Given the description of an element on the screen output the (x, y) to click on. 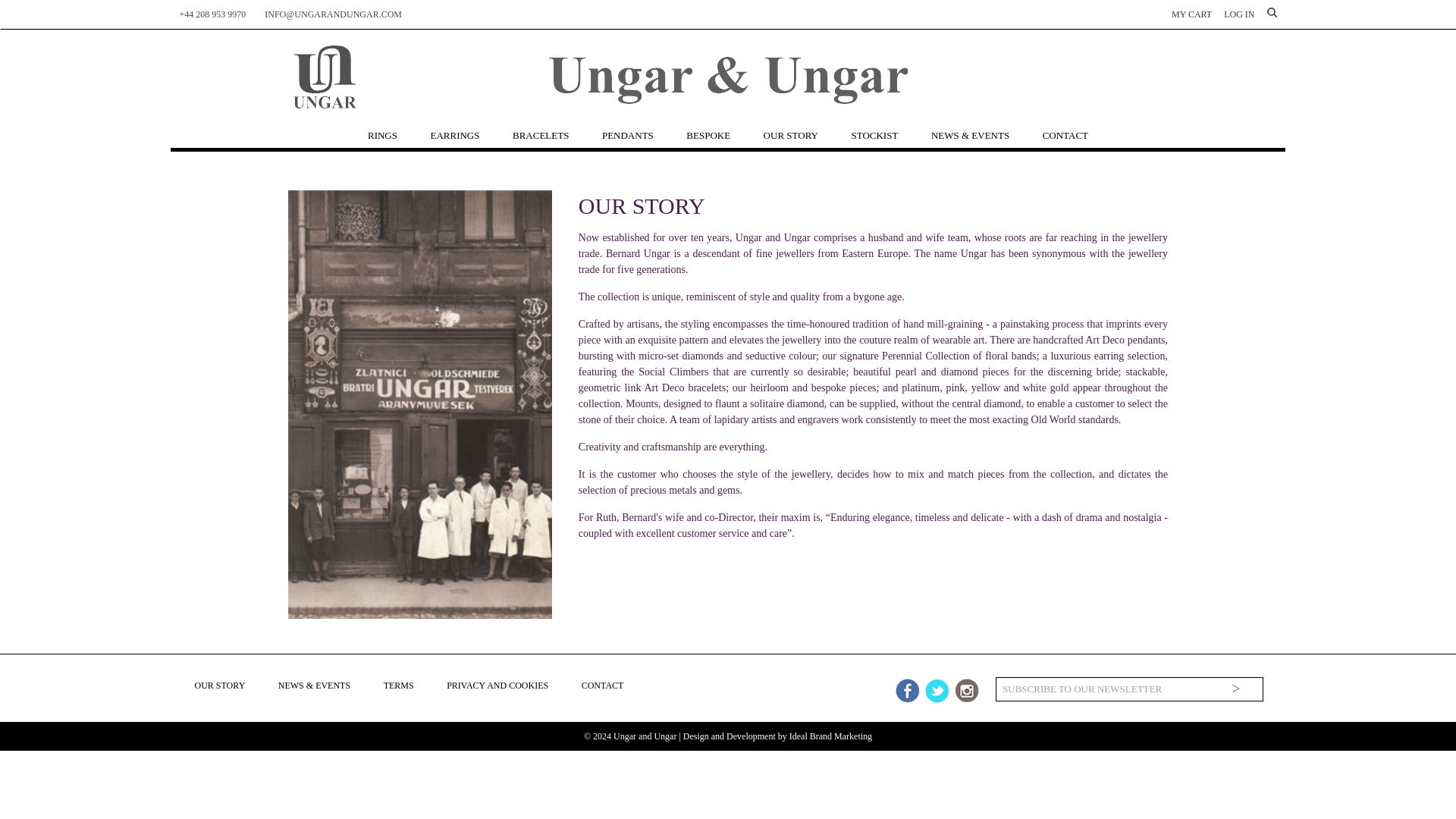
PENDANTS (627, 135)
My Cart (1191, 14)
BRACELETS (540, 135)
CONTACT (1064, 135)
EARRINGS (454, 135)
TERMS (398, 685)
Sign up for our newsletter (1102, 689)
Log In (1238, 14)
BESPOKE (707, 135)
STOCKIST (874, 135)
OUR STORY (790, 135)
RINGS (382, 135)
LOG IN (1238, 14)
OUR STORY (218, 685)
Subscribe (1235, 689)
